Given the description of an element on the screen output the (x, y) to click on. 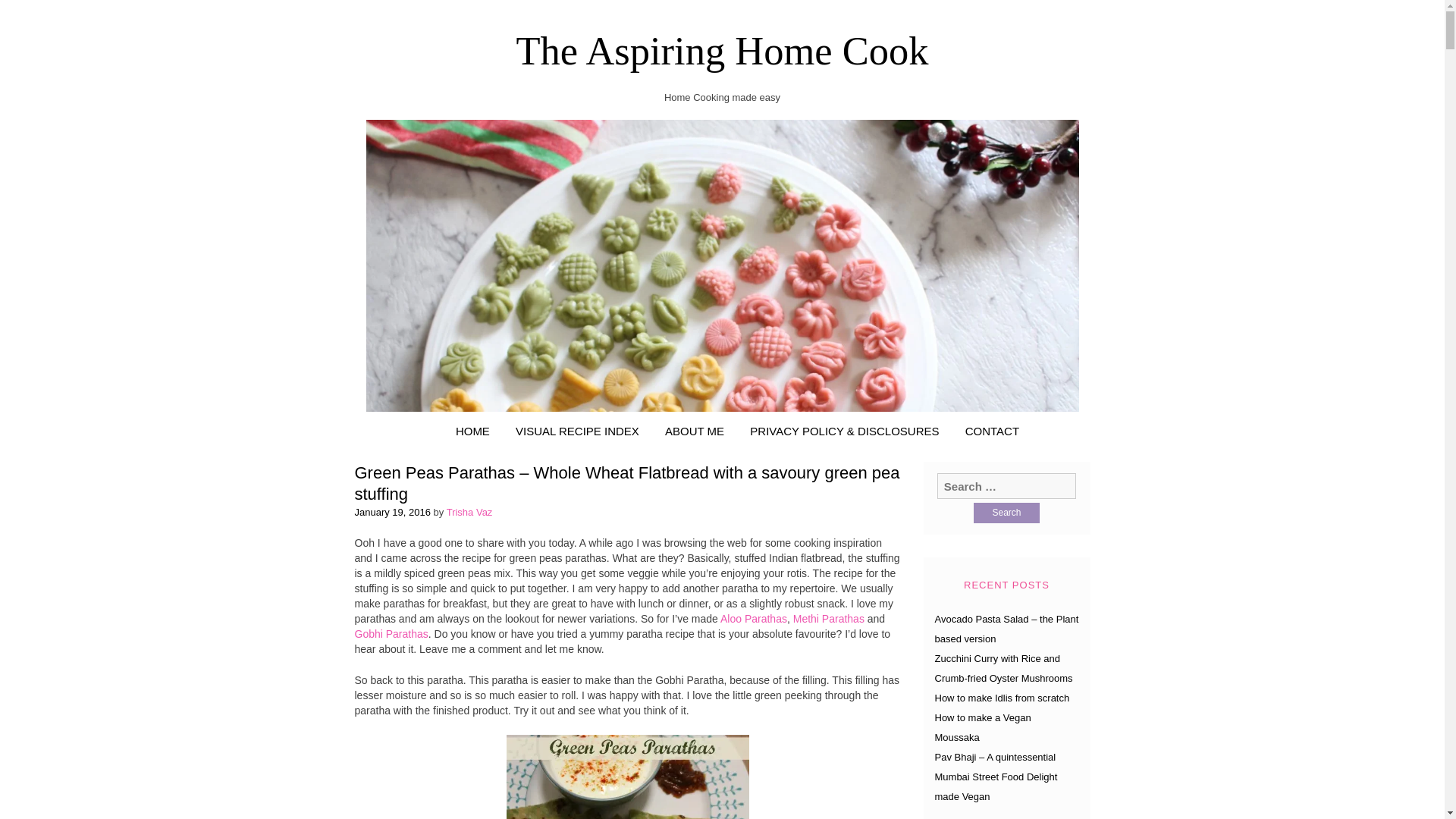
ABOUT ME (694, 430)
Trisha Vaz (469, 511)
Gobhi Parathas (391, 633)
VISUAL RECIPE INDEX (576, 430)
Methi Parathas (828, 618)
Search (1006, 512)
HOME (472, 430)
The Aspiring Home Cook (722, 50)
Search (1006, 512)
CONTACT (991, 430)
Aloo Parathas (753, 618)
